Given the description of an element on the screen output the (x, y) to click on. 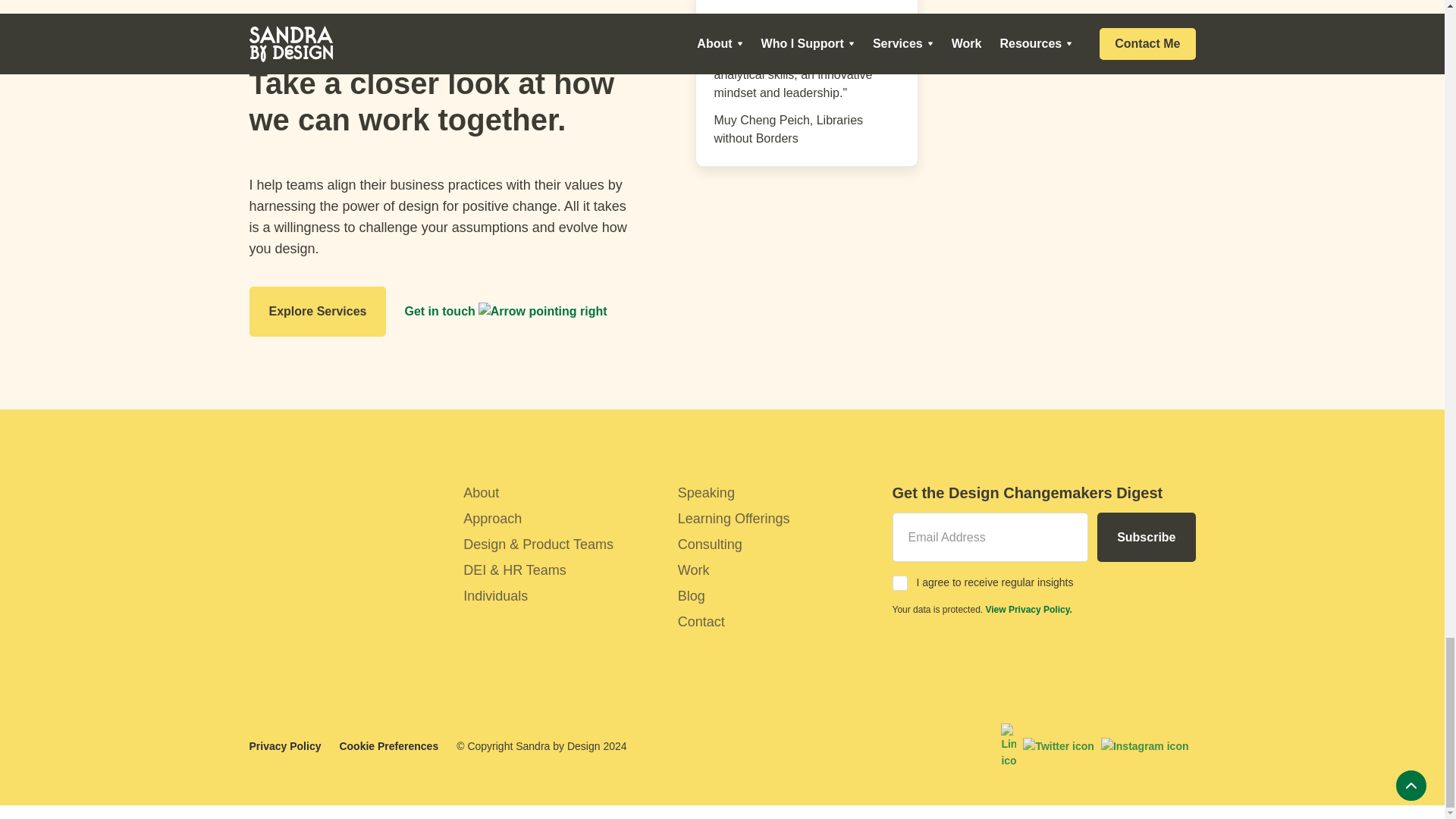
Subscribe (1146, 536)
Get in touch (505, 311)
Explore Services (316, 311)
About (561, 492)
